Given the description of an element on the screen output the (x, y) to click on. 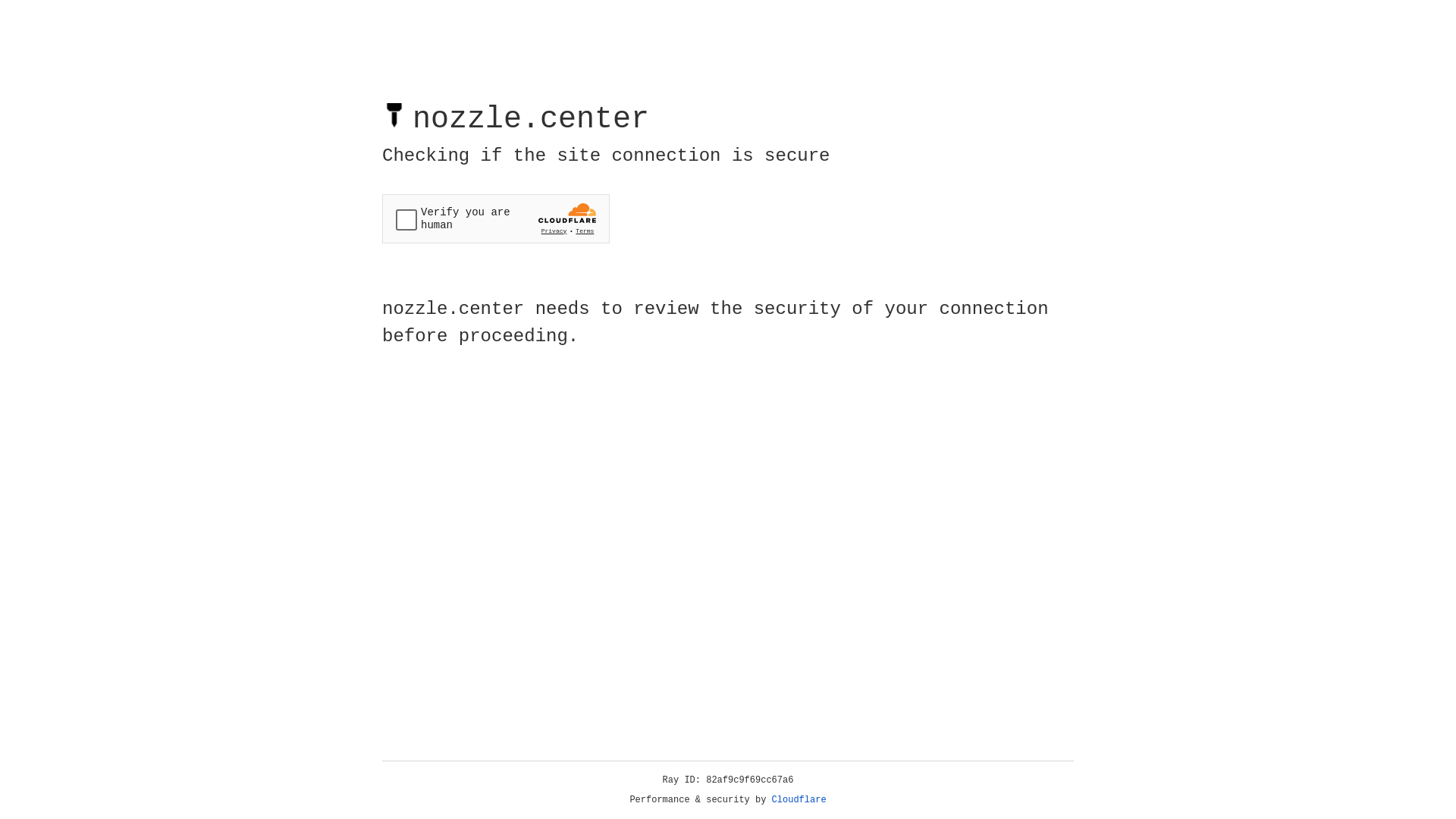
Cloudflare Element type: text (798, 799)
Widget containing a Cloudflare security challenge Element type: hover (495, 218)
